Given the description of an element on the screen output the (x, y) to click on. 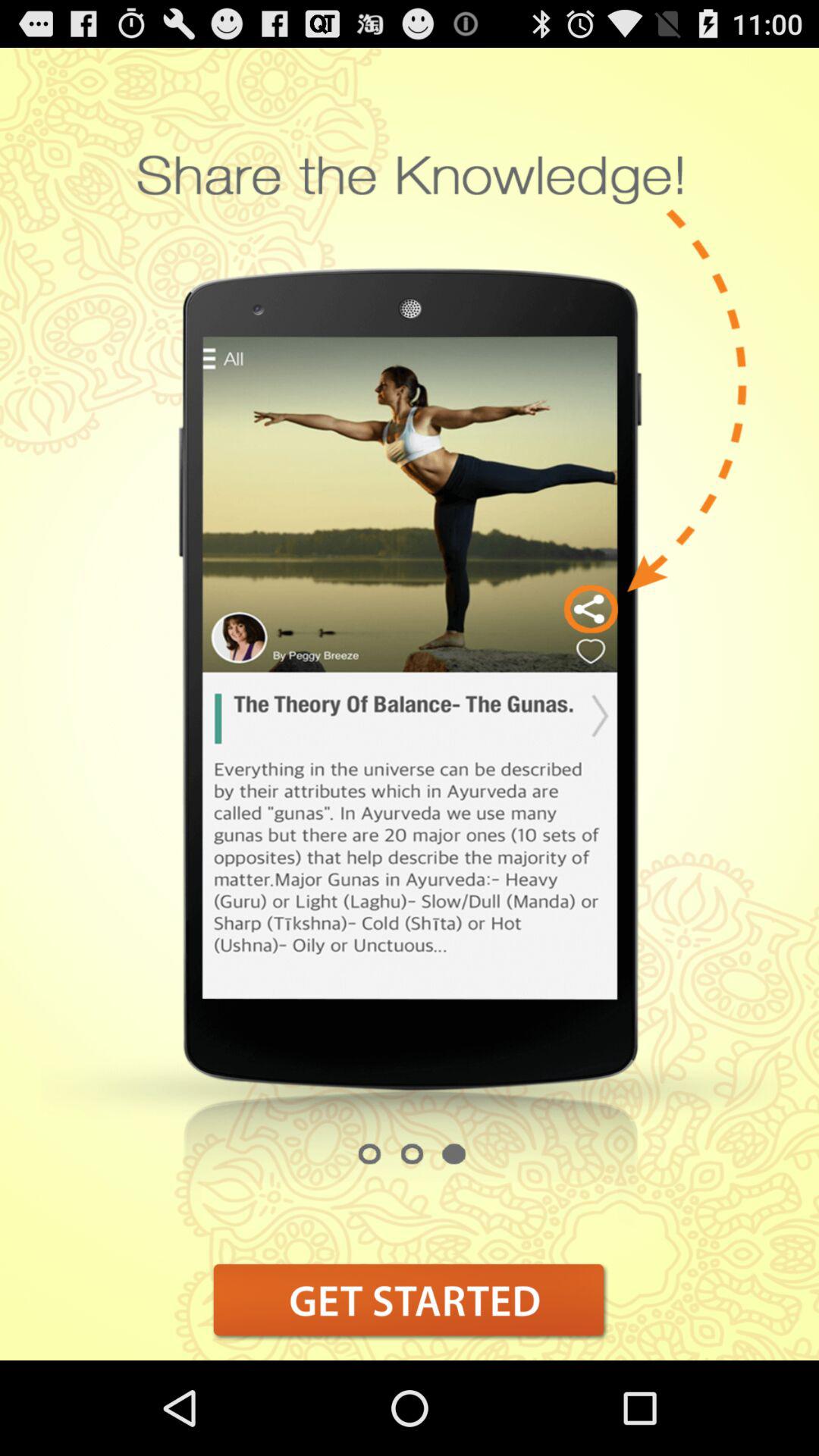
start (409, 1300)
